Given the description of an element on the screen output the (x, y) to click on. 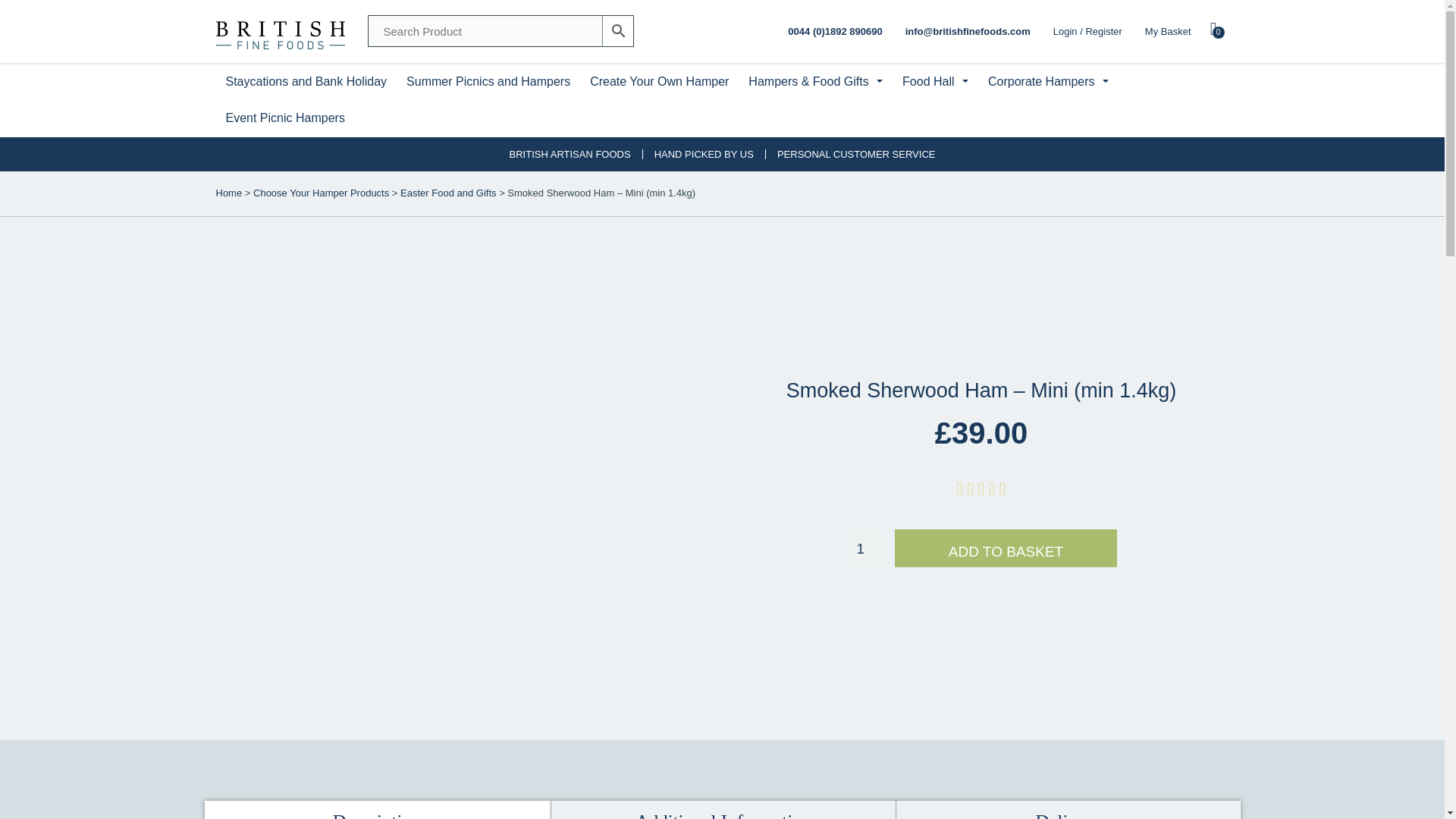
Summer Picnics and Hampers (487, 82)
Staycations and Bank Holiday (305, 82)
Create Your Own Hamper (658, 82)
British Fine Foods (279, 31)
1 (1181, 31)
